Given the description of an element on the screen output the (x, y) to click on. 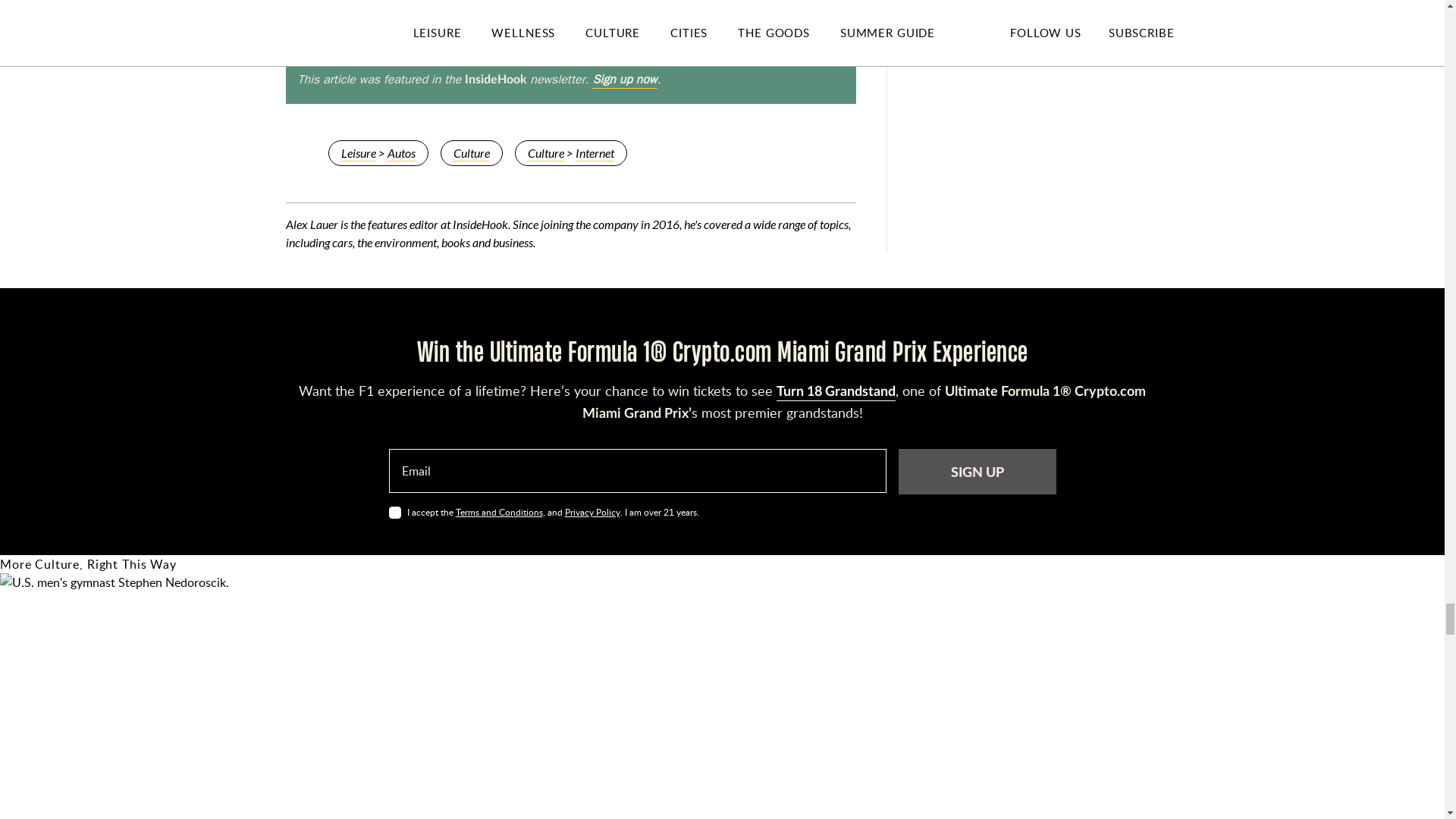
on (394, 512)
